Given the description of an element on the screen output the (x, y) to click on. 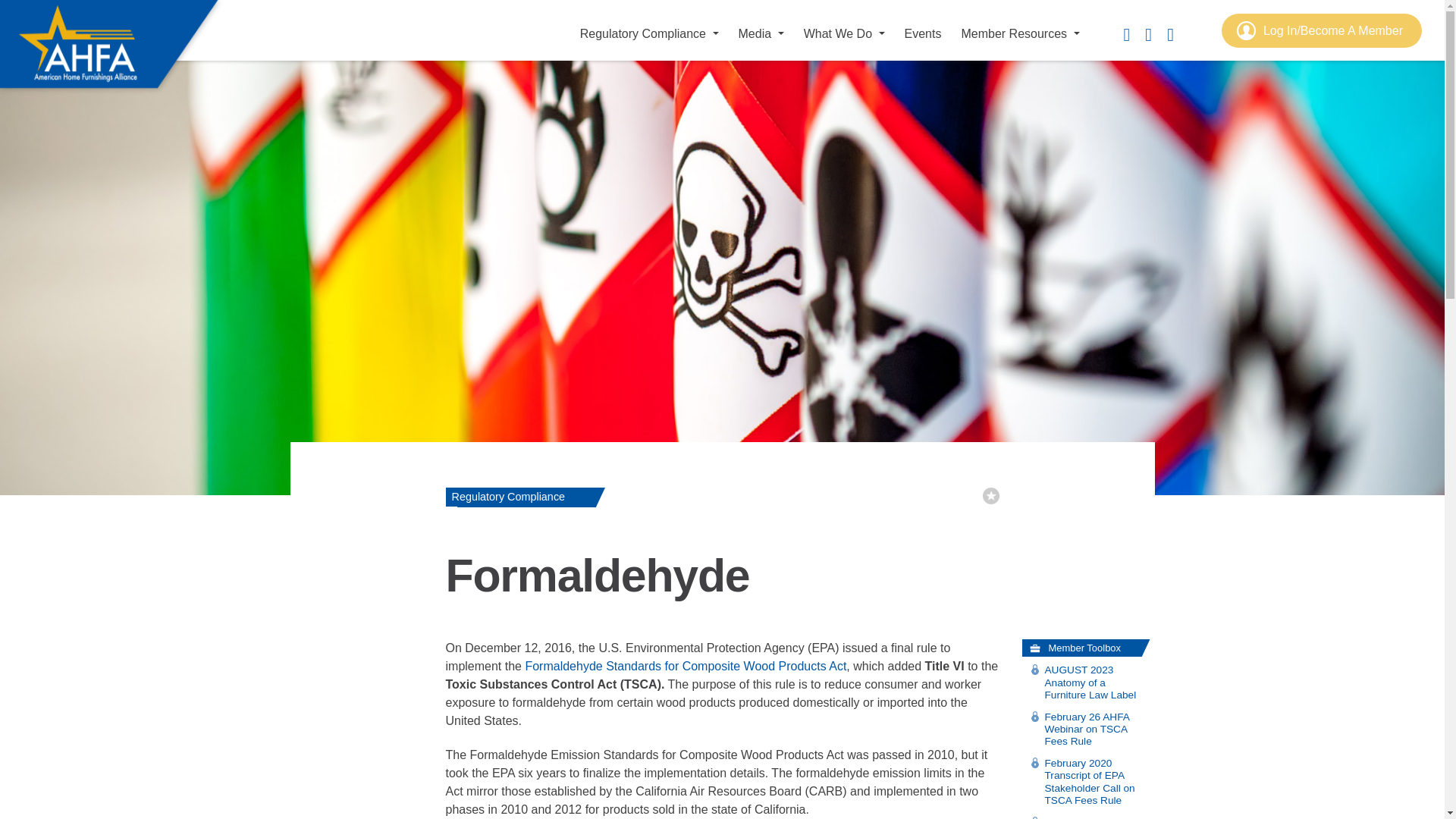
Events (922, 33)
What We Do (844, 33)
Regulatory Compliance (649, 33)
Media (761, 33)
Member Resources (1019, 33)
